Given the description of an element on the screen output the (x, y) to click on. 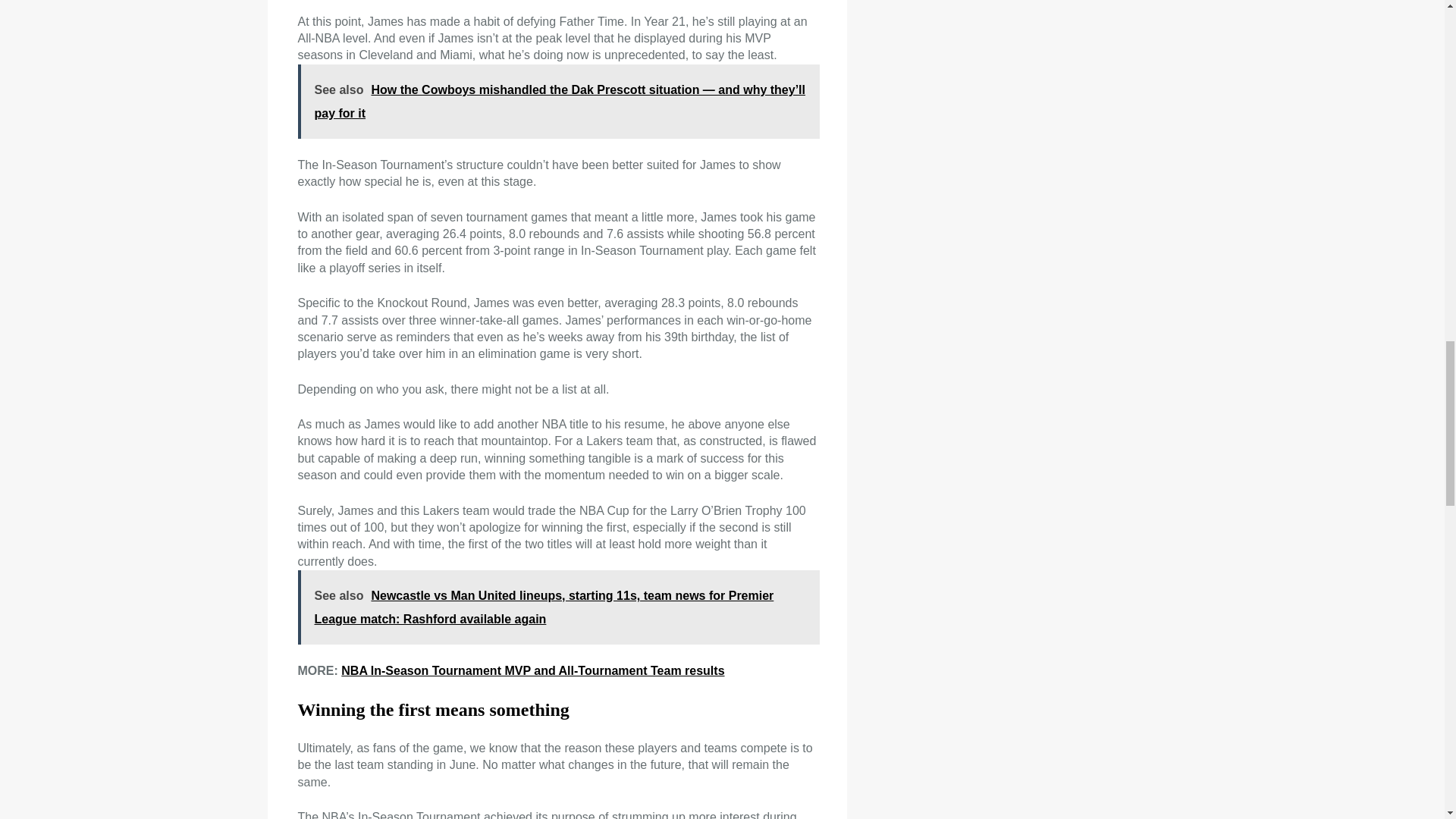
NBA In-Season Tournament MVP and All-Tournament Team results (531, 670)
